Given the description of an element on the screen output the (x, y) to click on. 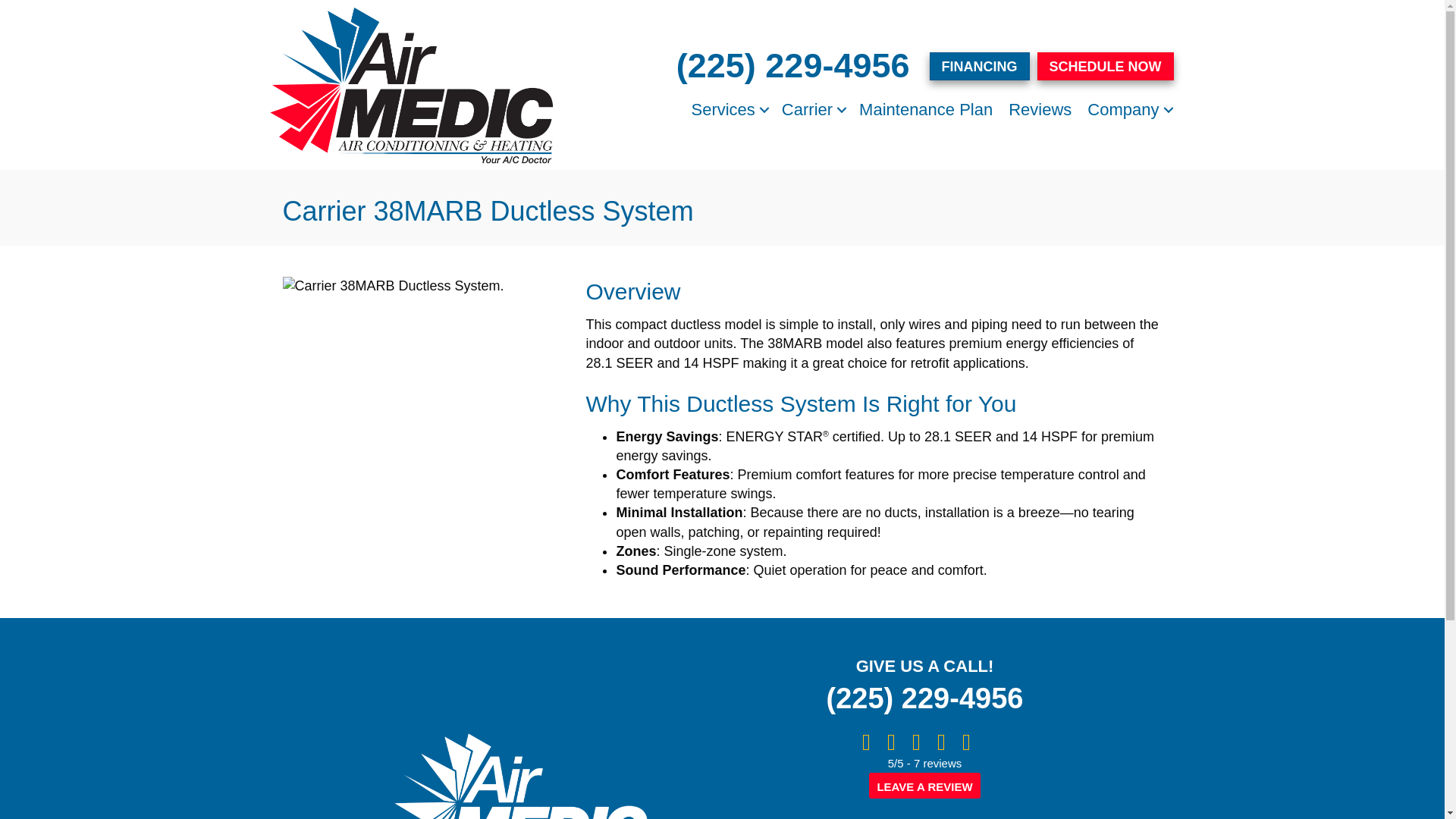
SCHEDULE NOW (1104, 66)
7 reviews (937, 762)
LEAVE A REVIEW (924, 785)
Company (1128, 108)
FINANCING (979, 66)
Carrier (812, 108)
AirMedic Logo (410, 85)
AMD Logo-WHT (519, 774)
Reviews (1039, 108)
Services (728, 108)
Maintenance Plan (925, 108)
